Given the description of an element on the screen output the (x, y) to click on. 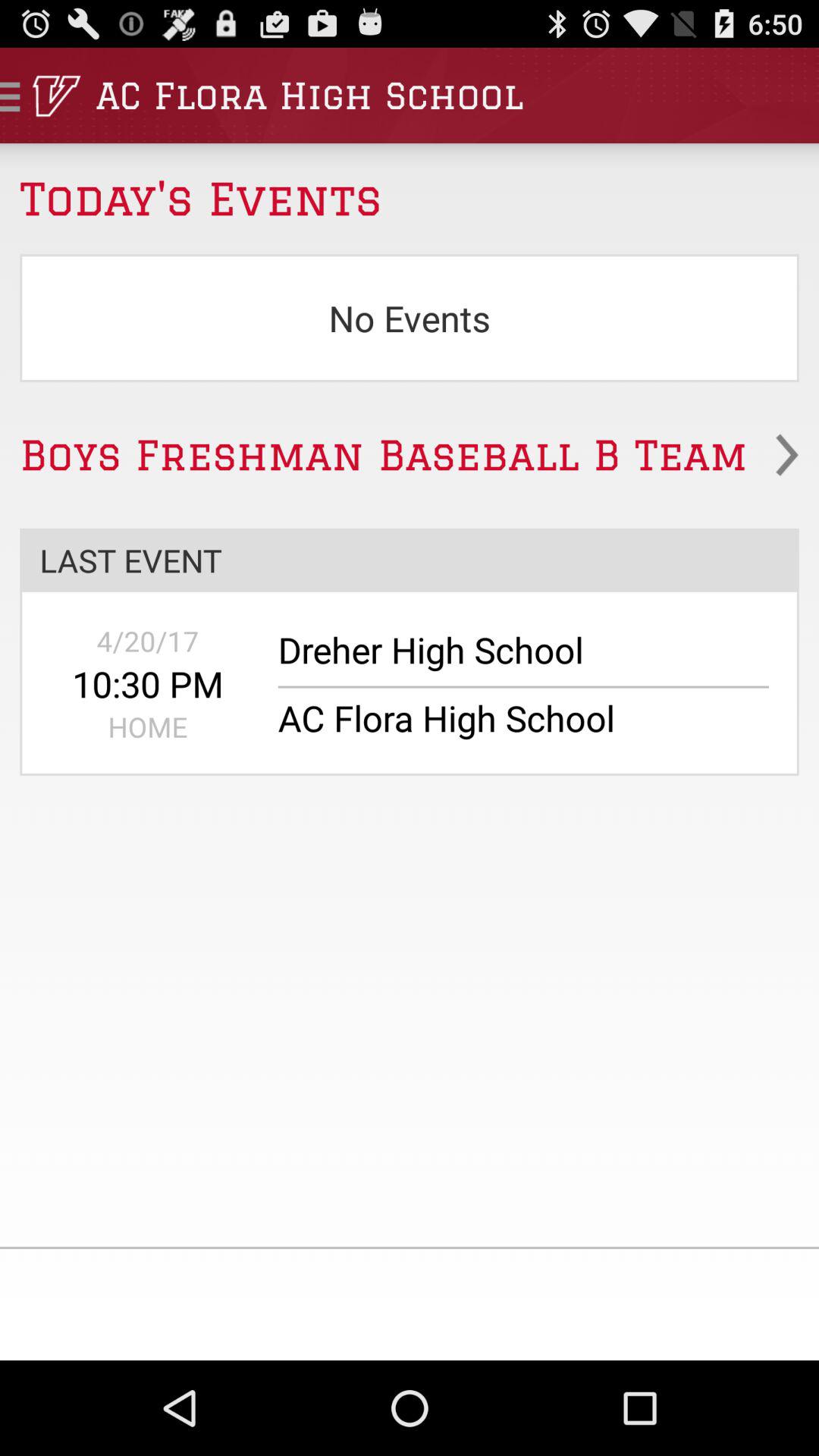
press app above the home app (147, 683)
